Given the description of an element on the screen output the (x, y) to click on. 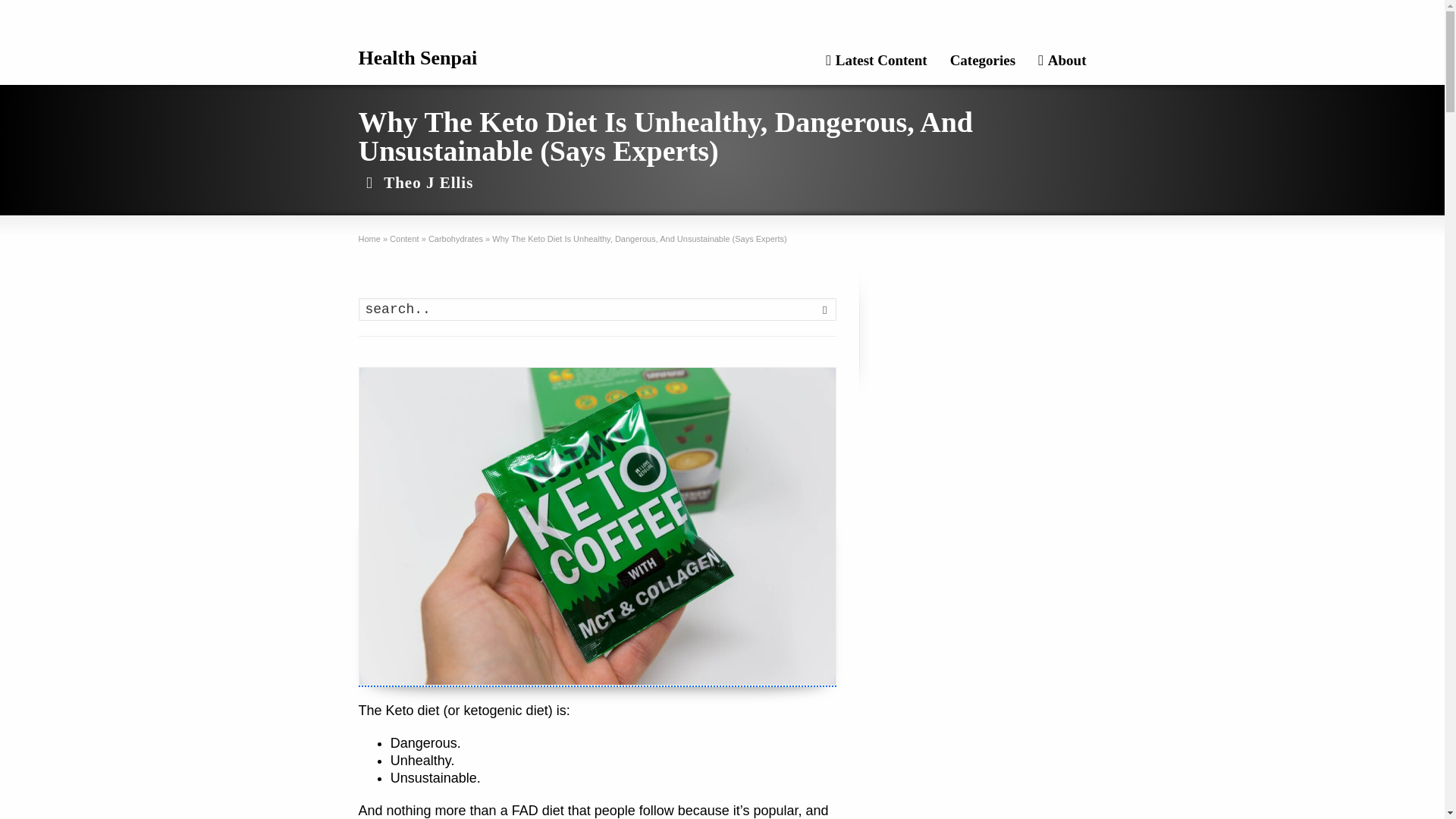
About (1061, 62)
Home (369, 238)
Content (404, 238)
Content (404, 238)
Search.. (596, 309)
Latest Content (876, 62)
Carbohydrates (455, 238)
Categories (983, 62)
Health Senpai (417, 58)
Carbohydrates (455, 238)
